Given the description of an element on the screen output the (x, y) to click on. 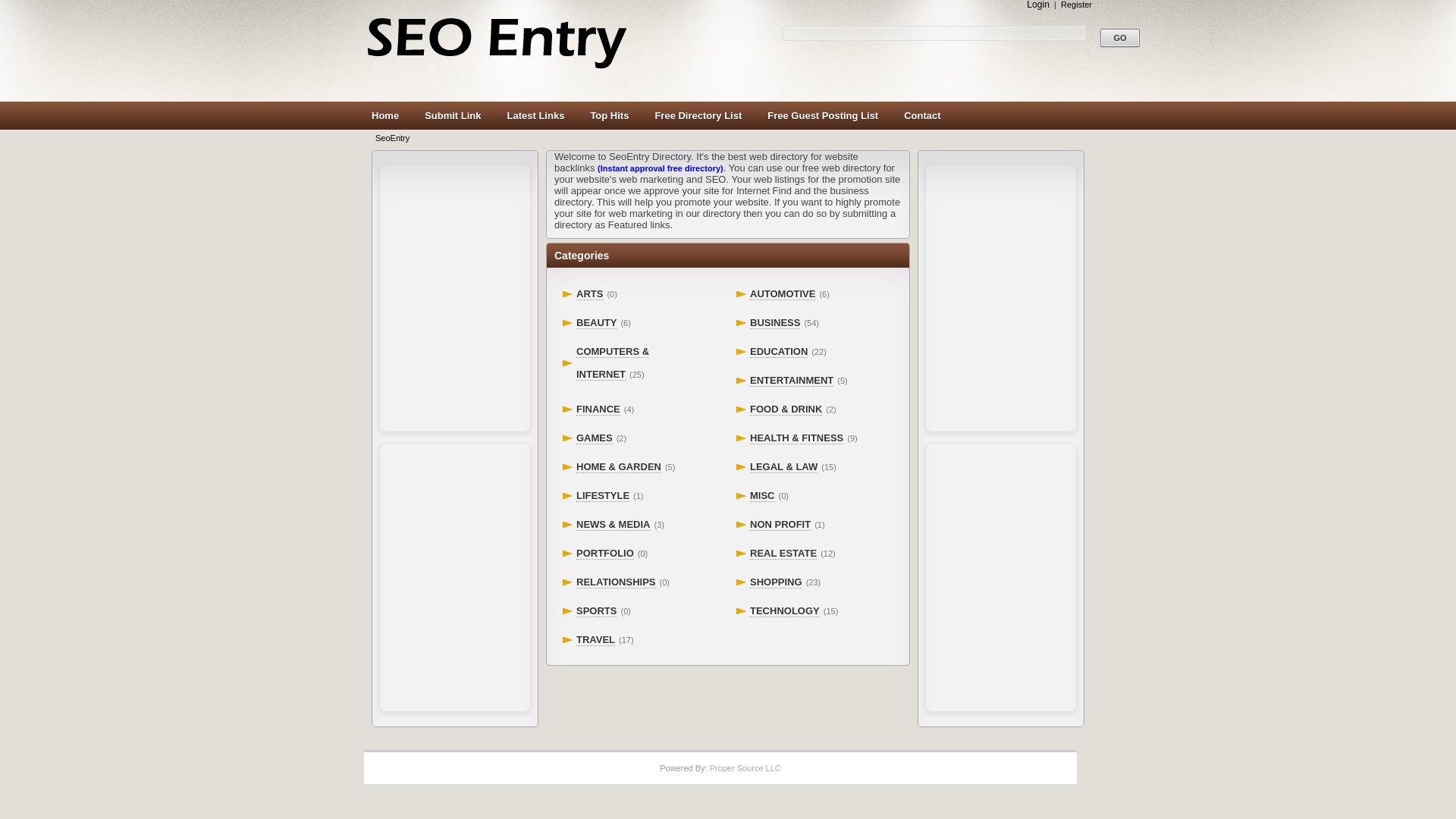
Non Profit (779, 524)
Proper Source LLC (745, 768)
Free Guest Posting List (822, 116)
ENTERTAINMENT (790, 380)
MISC (761, 495)
Latest Links (535, 116)
EDUCATION (778, 351)
Education (778, 351)
Travel (595, 639)
Relationships (616, 582)
Finance (598, 409)
Real Estate (782, 553)
powered by Proper Source LLC (745, 768)
Lifestyle (602, 495)
Arts (589, 294)
